Given the description of an element on the screen output the (x, y) to click on. 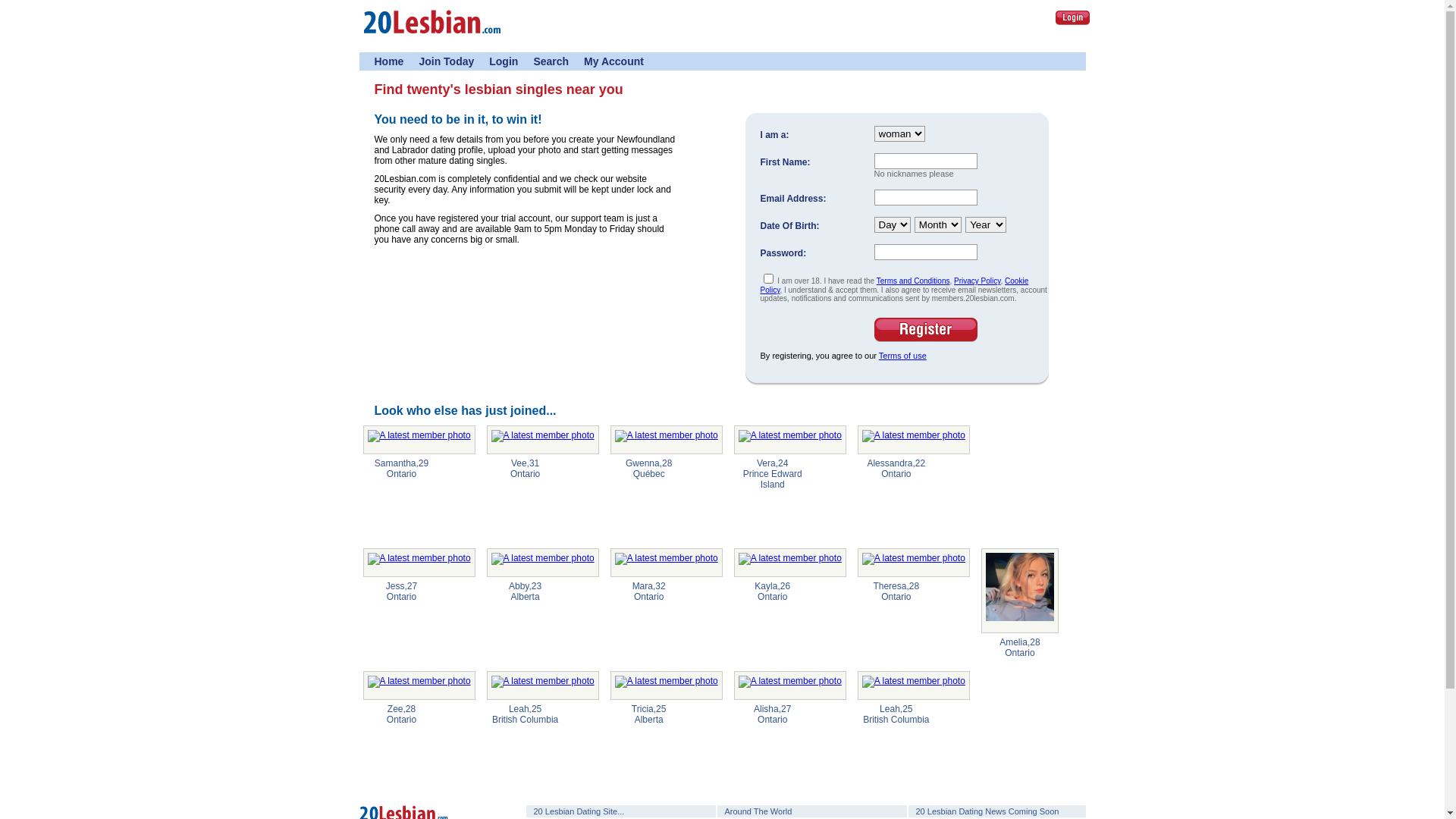
Login Element type: text (1072, 17)
Terms of use Element type: text (902, 355)
Terms and Conditions Element type: text (913, 280)
Tricia, 25 from Calgary, Alberta Element type: hover (666, 685)
20 Singles Dating Element type: hover (431, 38)
Home Element type: text (389, 61)
Privacy Policy Element type: text (977, 280)
Join Today Element type: text (445, 61)
Alessandra, 22 from Toronto, Ontario Element type: hover (913, 439)
Amelia, 28 from Toronto, Ontario Element type: hover (1019, 590)
Jess, 27 from Locust Hill, Ontario Element type: hover (418, 562)
Abby, 23 from Calgary, Alberta Element type: hover (542, 562)
Zee, 28 from Brampton, Ontario Element type: hover (418, 685)
My Account Element type: text (613, 61)
Theresa, 28 from East York, Ontario Element type: hover (913, 562)
Leah, 25 from Vancouver, British Columbia Element type: hover (913, 685)
Vee, 31 from Welland, Ontario Element type: hover (542, 439)
Kayla, 26 from Stoney Creek, Ontario Element type: hover (790, 562)
Login Element type: text (1069, 17)
Alisha, 27 from Toronto, Ontario Element type: hover (790, 685)
Leah, 25 from Kamloops, British Columbia Element type: hover (542, 685)
Search Element type: text (550, 61)
Samantha, 29 from Hamilton, Ontario Element type: hover (418, 439)
Cookie Policy Element type: text (893, 285)
Mara, 32 from Oshawa, Ontario Element type: hover (666, 562)
Vera, 24 from Pownal, Prince Edward Island Element type: hover (790, 439)
Login Element type: text (503, 61)
Register Element type: text (924, 329)
